Given the description of an element on the screen output the (x, y) to click on. 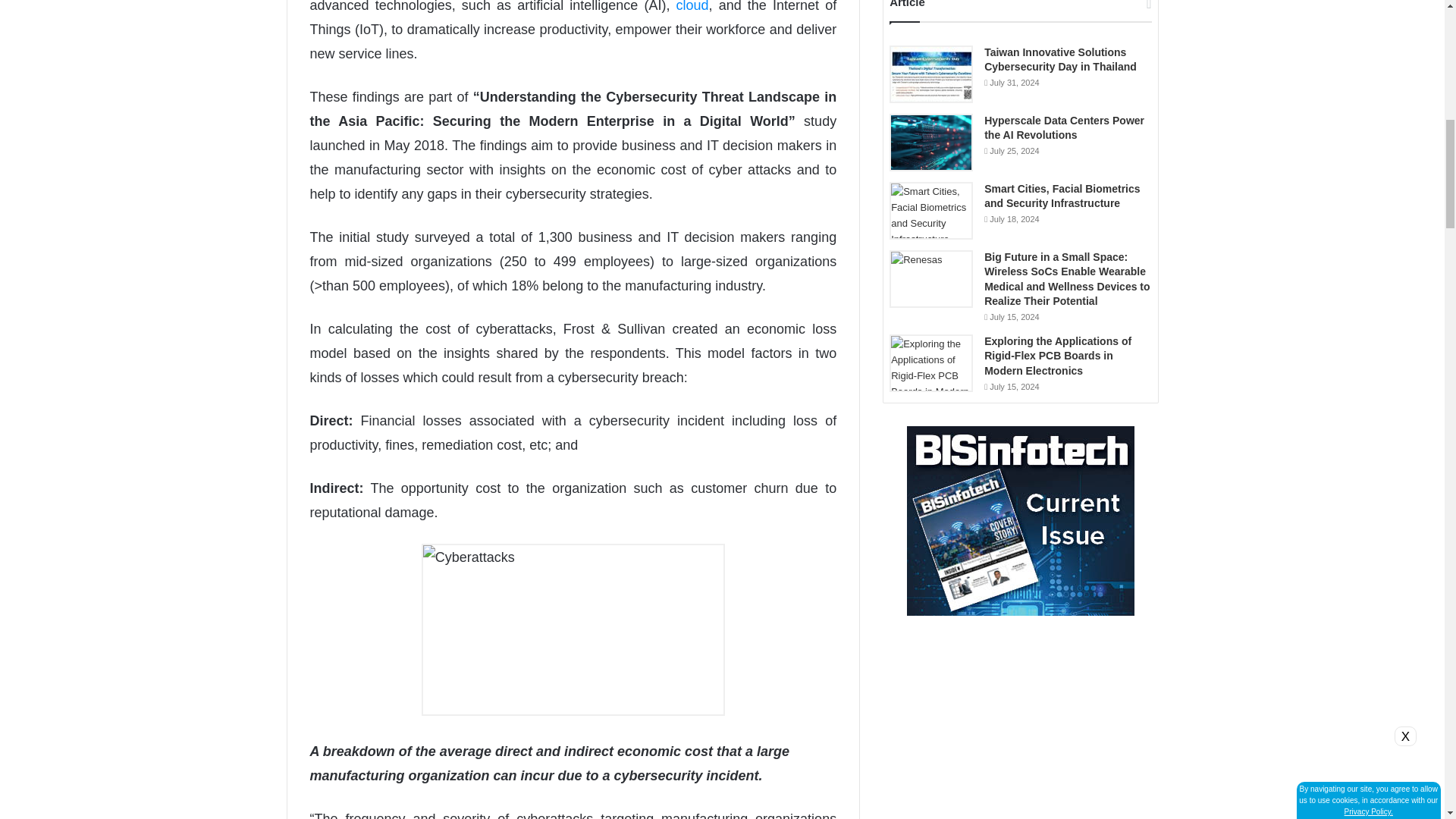
Taiwan Innovative Solutions Cybersecurity Day in Thailand (930, 74)
